Given the description of an element on the screen output the (x, y) to click on. 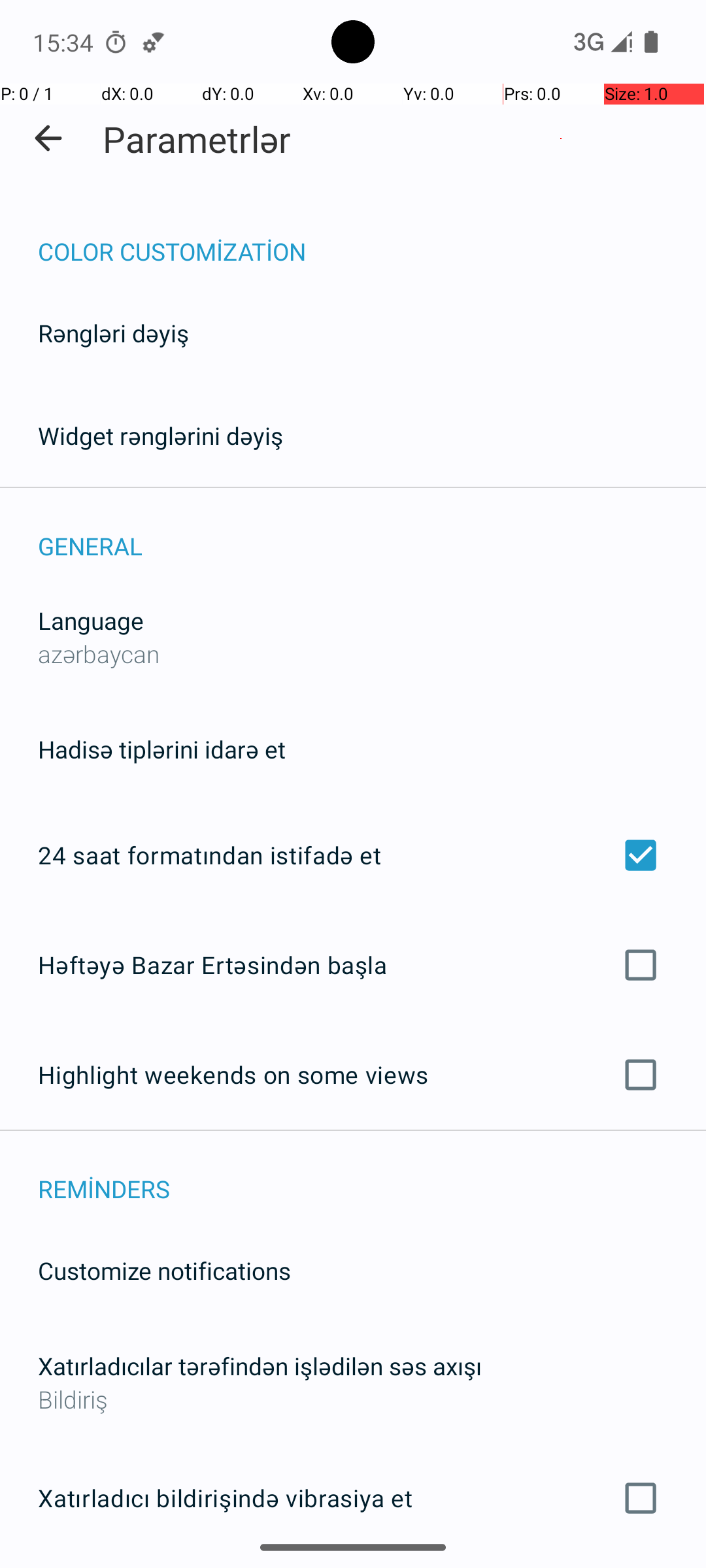
COLOR CUSTOMİZATİON Element type: android.widget.TextView (371, 237)
REMİNDERS Element type: android.widget.TextView (371, 1174)
Rəngləri dəyiş Element type: android.widget.TextView (112, 332)
Widget rənglərini dəyiş Element type: android.widget.TextView (160, 435)
azərbaycan Element type: android.widget.TextView (98, 653)
Hadisə tiplərini idarə et Element type: android.widget.TextView (161, 748)
24 saat formatından istifadə et Element type: android.widget.CheckBox (352, 855)
Həftəyə Bazar Ertəsindən başla Element type: android.widget.CheckBox (352, 964)
Xatırladıcılar tərəfindən işlədilən səs axışı Element type: android.widget.TextView (259, 1365)
Bildiriş Element type: android.widget.TextView (352, 1398)
Xatırladıcı bildirişində vibrasiya et Element type: android.widget.CheckBox (352, 1497)
Buraxılana qədər xatırladıcıları təkrarla Element type: android.widget.CheckBox (352, 1567)
